Given the description of an element on the screen output the (x, y) to click on. 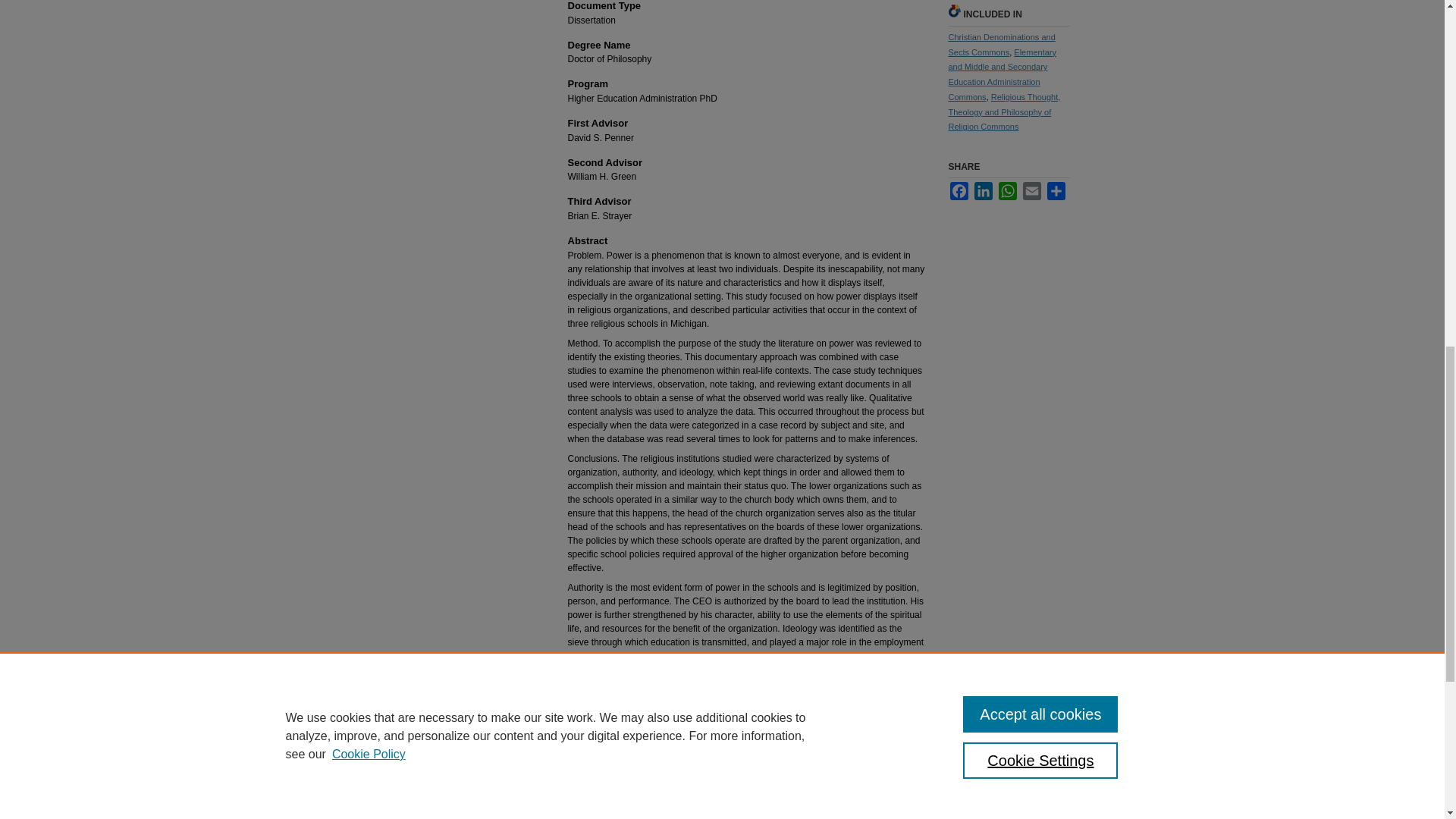
Christian Denominations and Sects Commons (1000, 44)
Christian Denominations and Sects Commons (1000, 44)
